Given the description of an element on the screen output the (x, y) to click on. 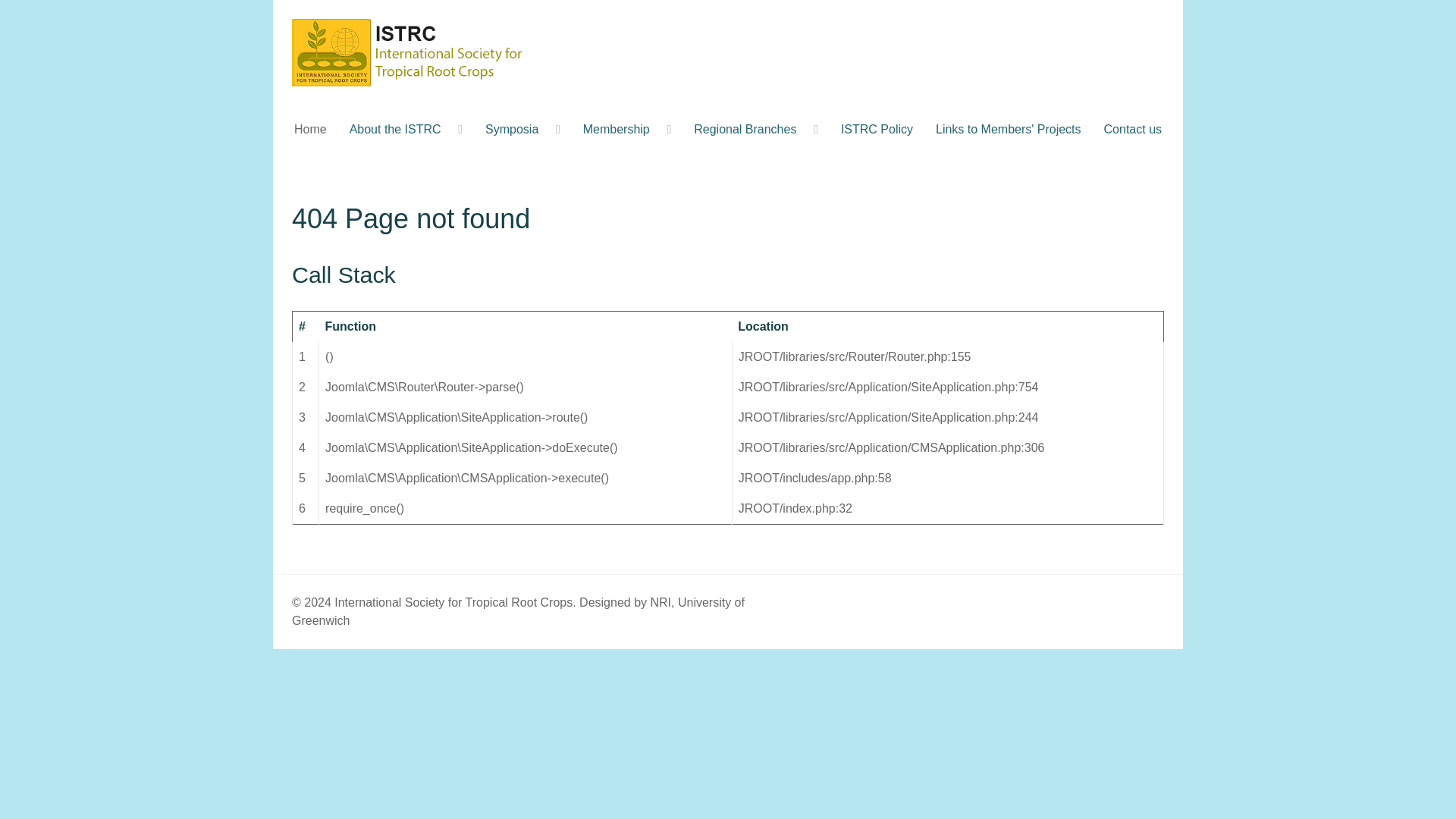
Contact us (1133, 128)
Membership (627, 128)
About the ISTRC (405, 128)
International Society for Tropical Root Crops (409, 51)
ISTRC Policy (876, 128)
Symposia (523, 128)
Regional Branches (755, 128)
Home (309, 128)
Links to Members' Projects (1008, 128)
